Given the description of an element on the screen output the (x, y) to click on. 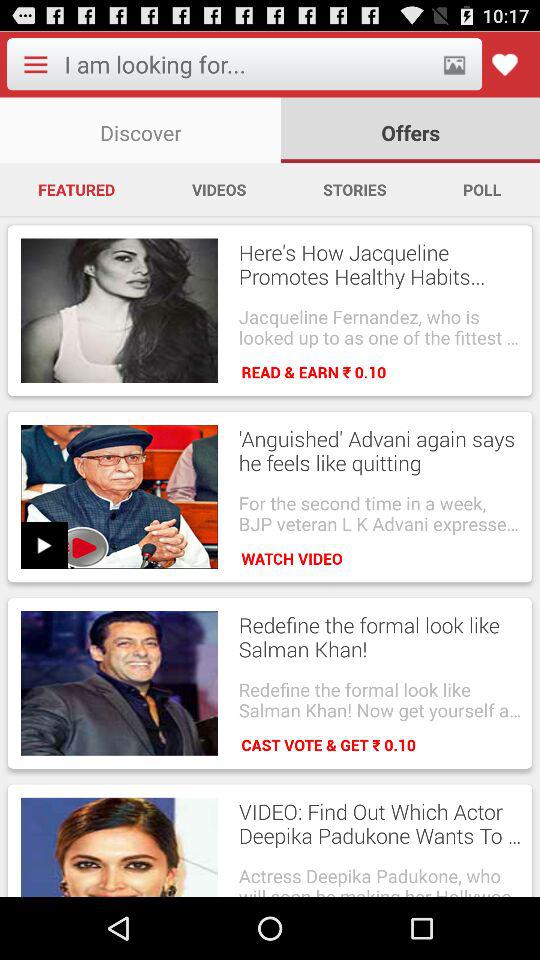
swipe until the poll app (482, 189)
